Given the description of an element on the screen output the (x, y) to click on. 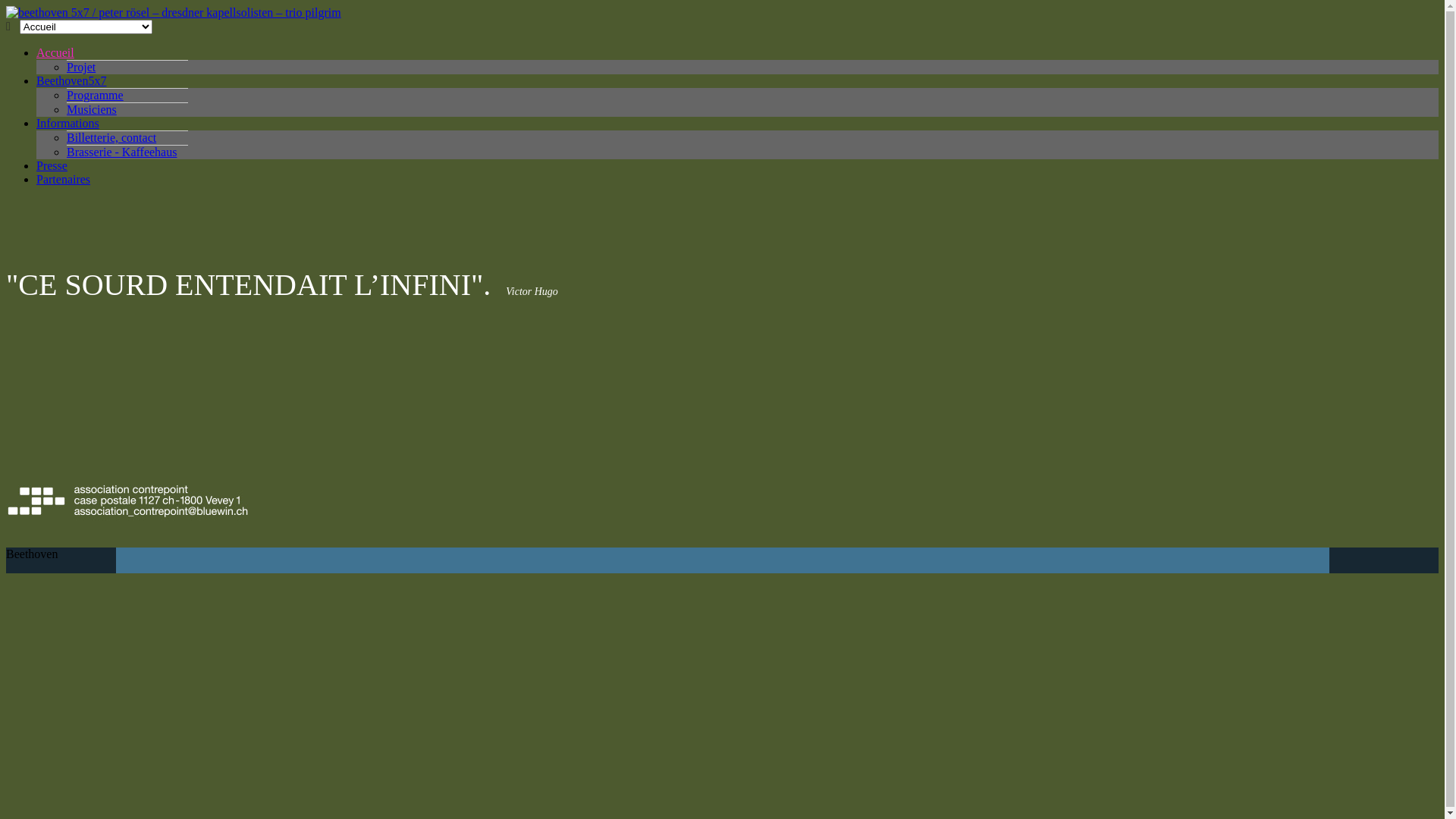
Beethoven5x7 Element type: text (71, 80)
Informations Element type: text (67, 122)
Presse Element type: text (51, 165)
Accueil Element type: text (55, 52)
Brasserie - Kaffeehaus Element type: text (121, 151)
Billetterie, contact Element type: text (111, 137)
Projet Element type: text (80, 66)
Musiciens Element type: text (91, 109)
Programme Element type: text (94, 94)
Partenaires Element type: text (63, 178)
